Given the description of an element on the screen output the (x, y) to click on. 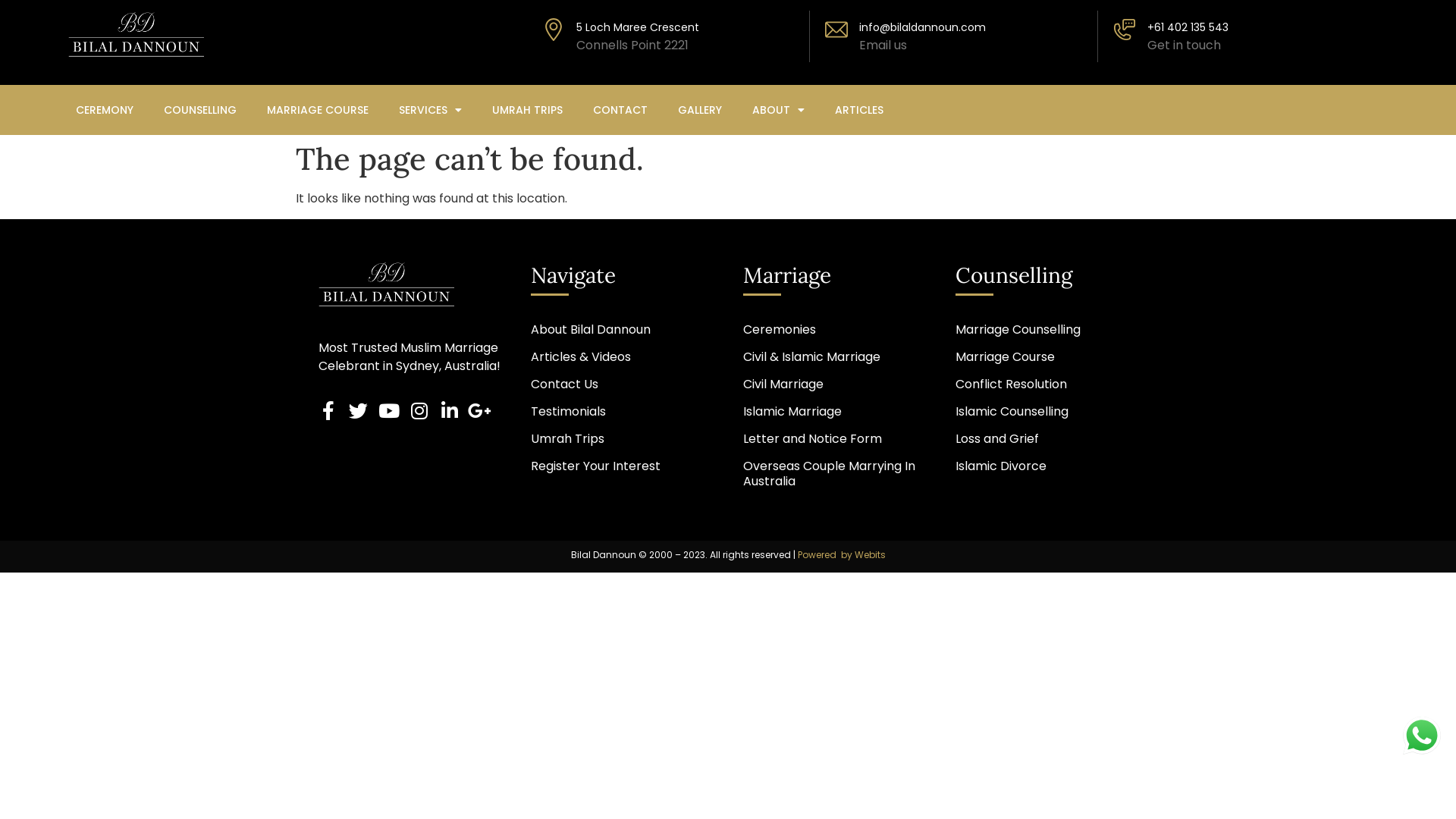
Register Your Interest Element type: text (621, 466)
GALLERY Element type: text (699, 109)
SERVICES Element type: text (429, 109)
Islamic Counselling Element type: text (1046, 411)
Civil & Islamic Marriage Element type: text (834, 356)
Overseas Couple Marrying In Australia Element type: text (834, 473)
ARTICLES Element type: text (858, 109)
ABOUT Element type: text (778, 109)
Contact Us Element type: text (621, 384)
Conflict Resolution Element type: text (1046, 384)
Loss and Grief Element type: text (1046, 438)
WhatsApp Us Element type: hover (1421, 735)
About Bilal Dannoun Element type: text (621, 329)
Civil Marriage Element type: text (834, 384)
Marriage Counselling Element type: text (1046, 329)
Marriage Course Element type: text (1046, 356)
Powered  by Webits Element type: text (841, 554)
MARRIAGE COURSE Element type: text (317, 109)
Letter and Notice Form Element type: text (834, 438)
COUNSELLING Element type: text (199, 109)
Islamic Divorce Element type: text (1046, 466)
CONTACT Element type: text (619, 109)
Ceremonies Element type: text (834, 329)
Articles & Videos Element type: text (621, 356)
UMRAH TRIPS Element type: text (526, 109)
Testimonials Element type: text (621, 411)
CEREMONY Element type: text (104, 109)
Islamic Marriage Element type: text (834, 411)
Umrah Trips Element type: text (621, 438)
